Given the description of an element on the screen output the (x, y) to click on. 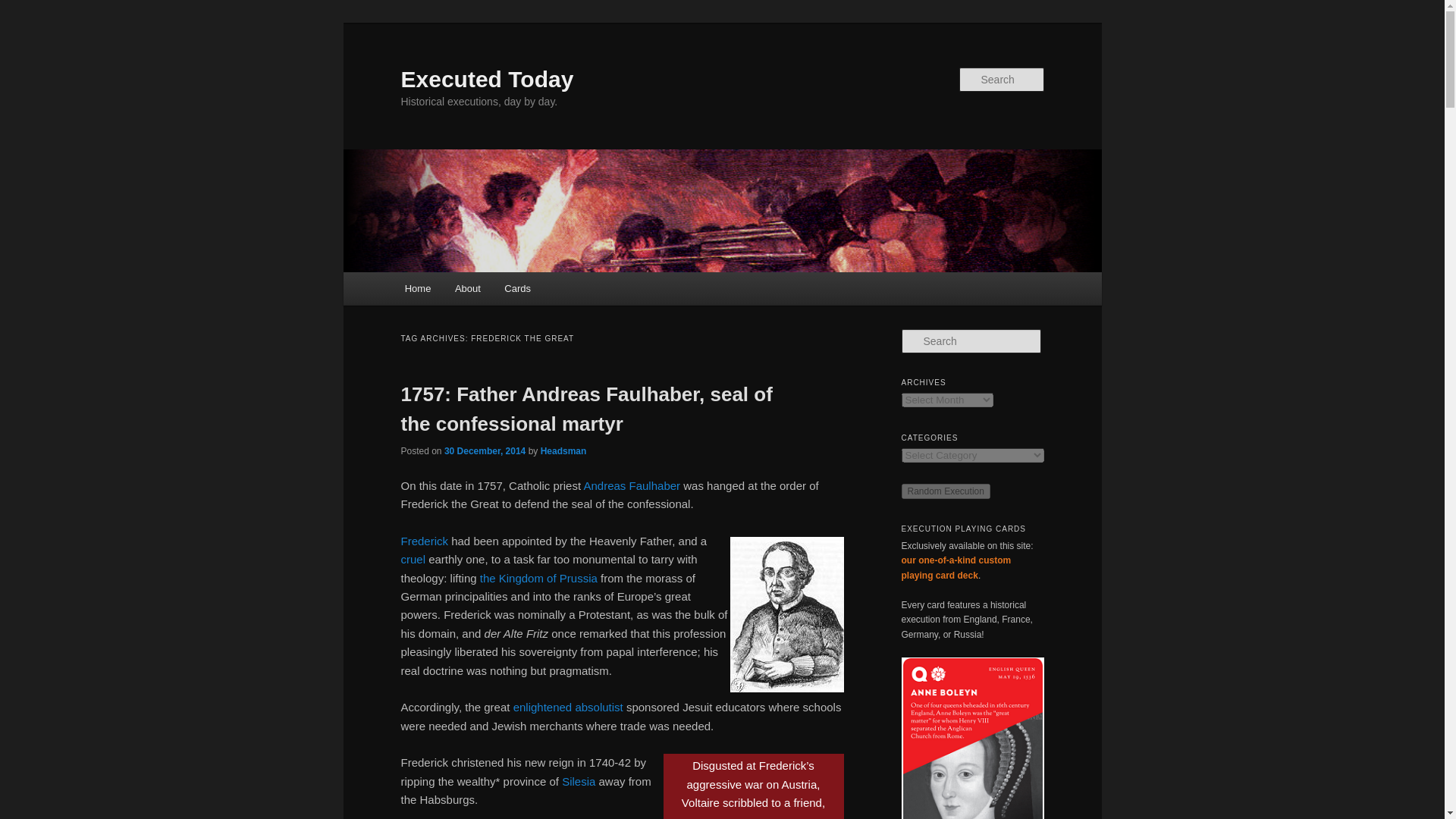
the Kingdom of Prussia (538, 577)
View all posts by Headsman (563, 450)
Cards (518, 287)
Andreas Faulhaber (631, 485)
Frederick (424, 540)
8:23 am (484, 450)
Silesia (578, 780)
30 December, 2014 (484, 450)
Random Execution (945, 491)
